Given the description of an element on the screen output the (x, y) to click on. 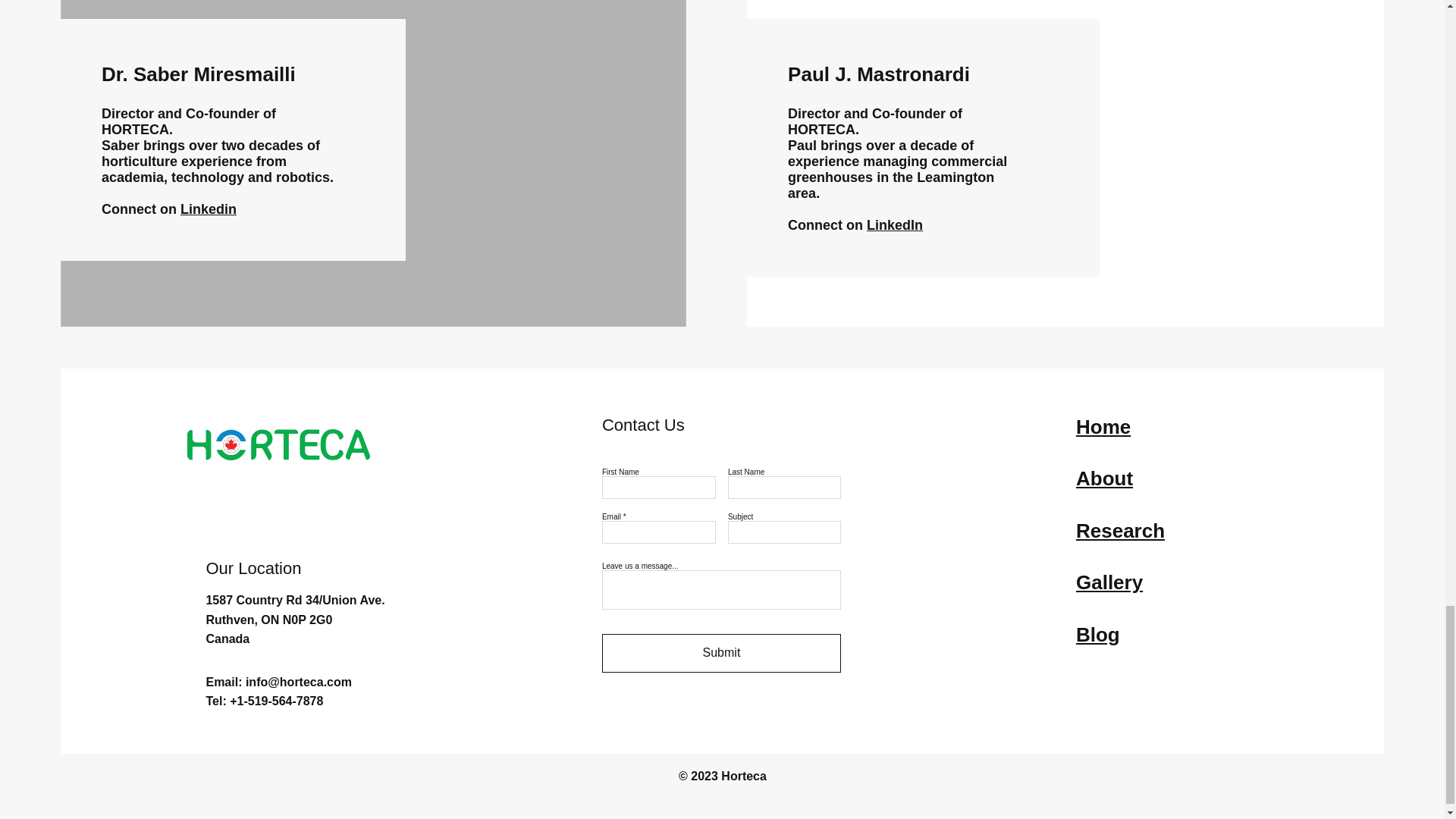
Home (1103, 426)
Submit (721, 652)
LinkedIn (894, 224)
About (1103, 477)
Blog (1097, 634)
Gallery (1108, 581)
Research (1119, 530)
Linkedin (207, 209)
